Given the description of an element on the screen output the (x, y) to click on. 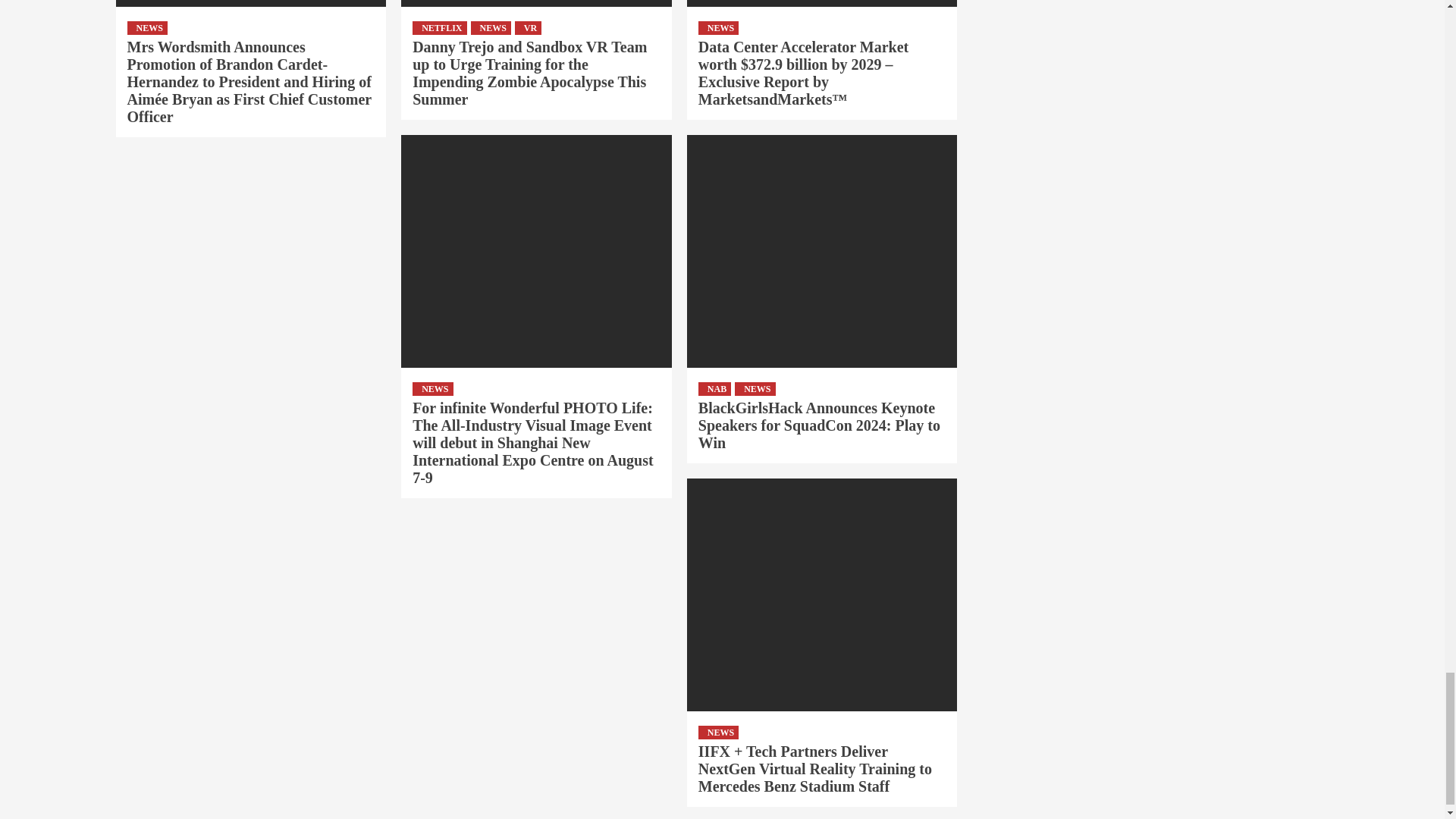
NEWS (147, 28)
